Given the description of an element on the screen output the (x, y) to click on. 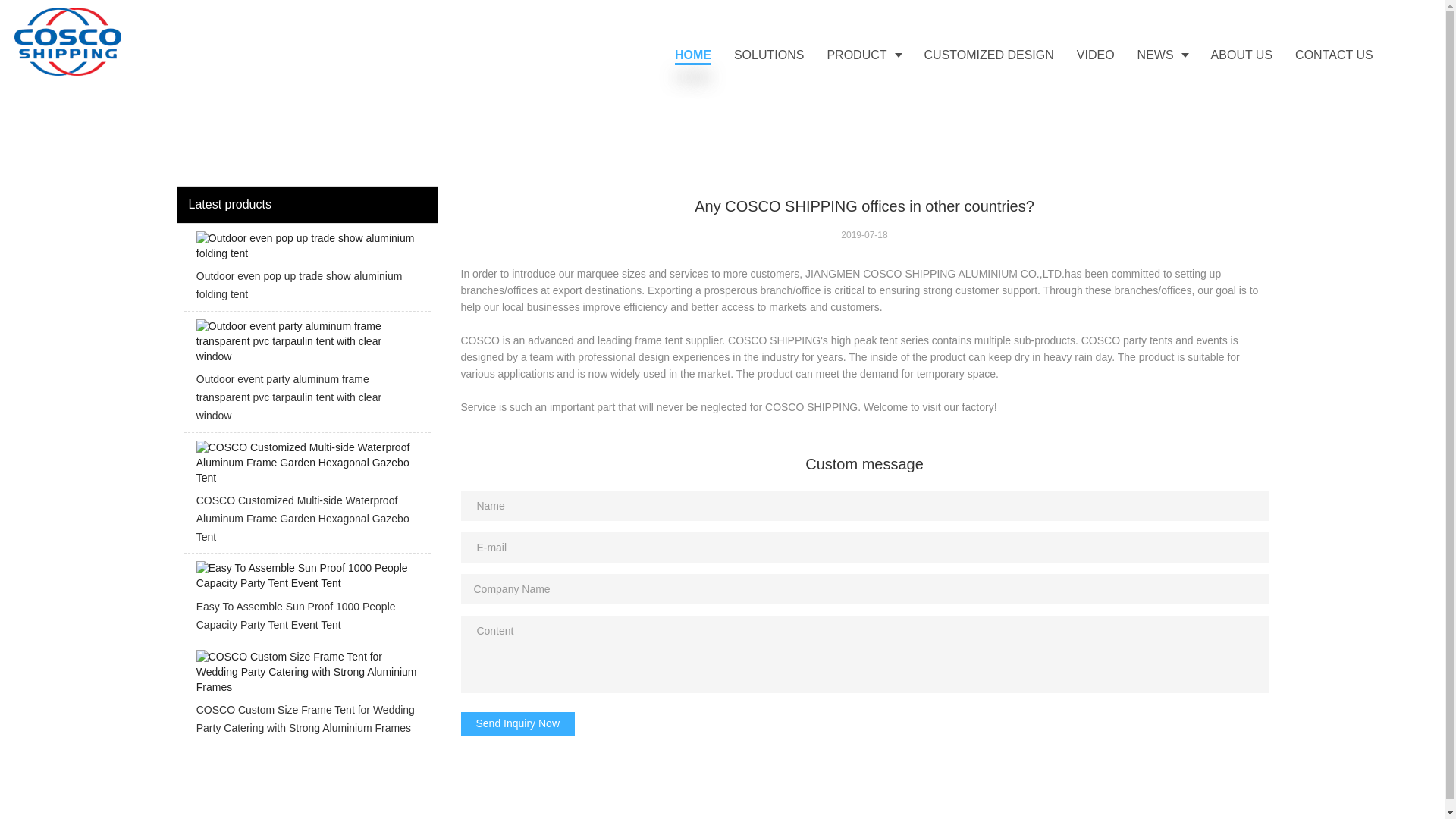
CONTACT US (1334, 55)
NEWS (1162, 55)
ABOUT US (1241, 55)
SOLUTIONS (768, 55)
HOME (692, 55)
Send Inquiry Now (518, 723)
CUSTOMIZED DESIGN (988, 55)
VIDEO (1095, 55)
